Given the description of an element on the screen output the (x, y) to click on. 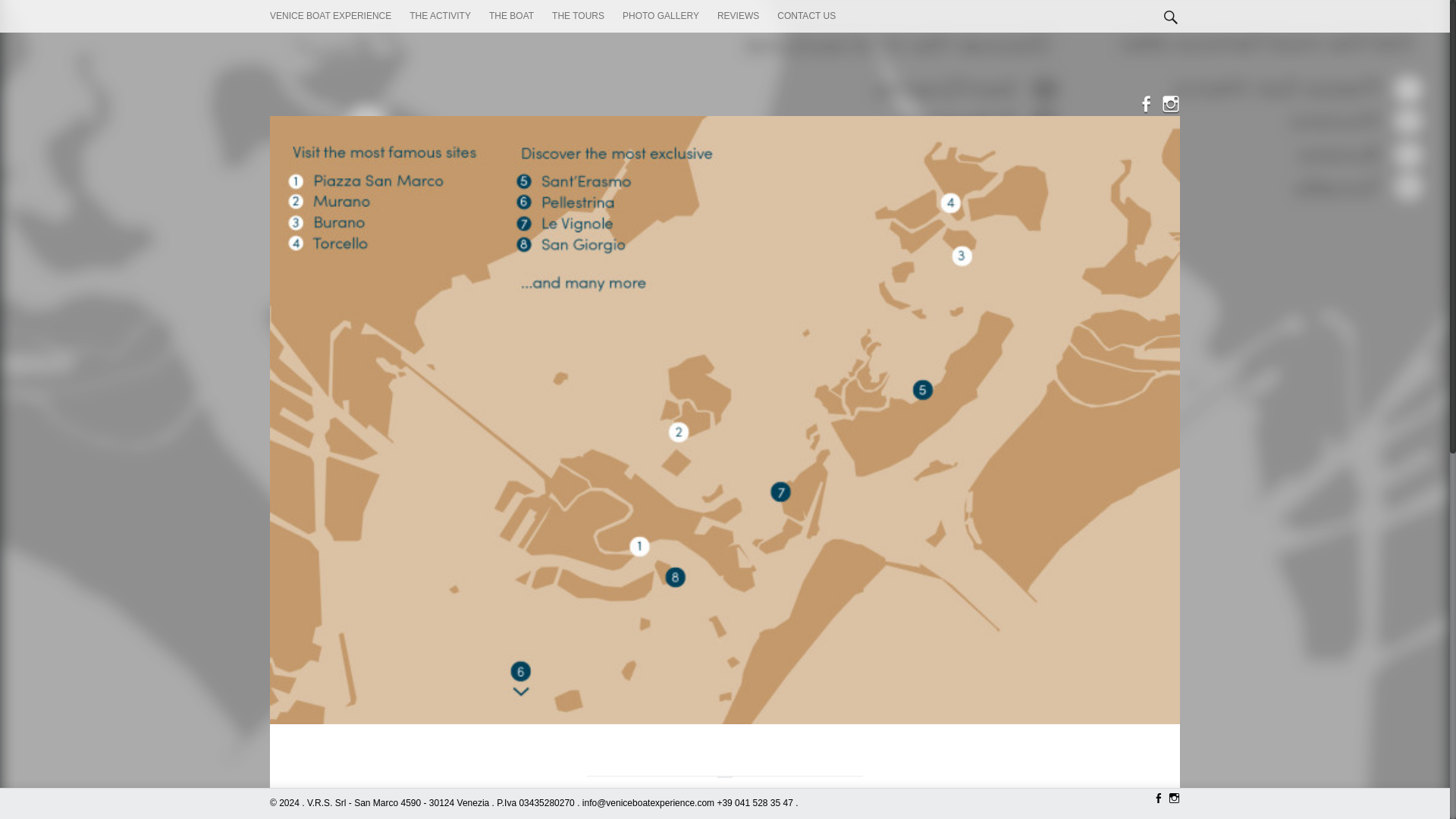
CONTACT US (806, 16)
Venice Boat Experience on Facebook (1156, 799)
THE BOAT (511, 16)
Venice Boat Experience on Instagram (1171, 799)
THE TOURS (577, 16)
Venice Boat Experience on Instagram (1166, 106)
VENICE BOAT EXPERIENCE (330, 16)
THE ACTIVITY (439, 16)
Venice Boat Experience on Facebook (1141, 106)
PHOTO GALLERY (660, 16)
REVIEWS (737, 16)
